Given the description of an element on the screen output the (x, y) to click on. 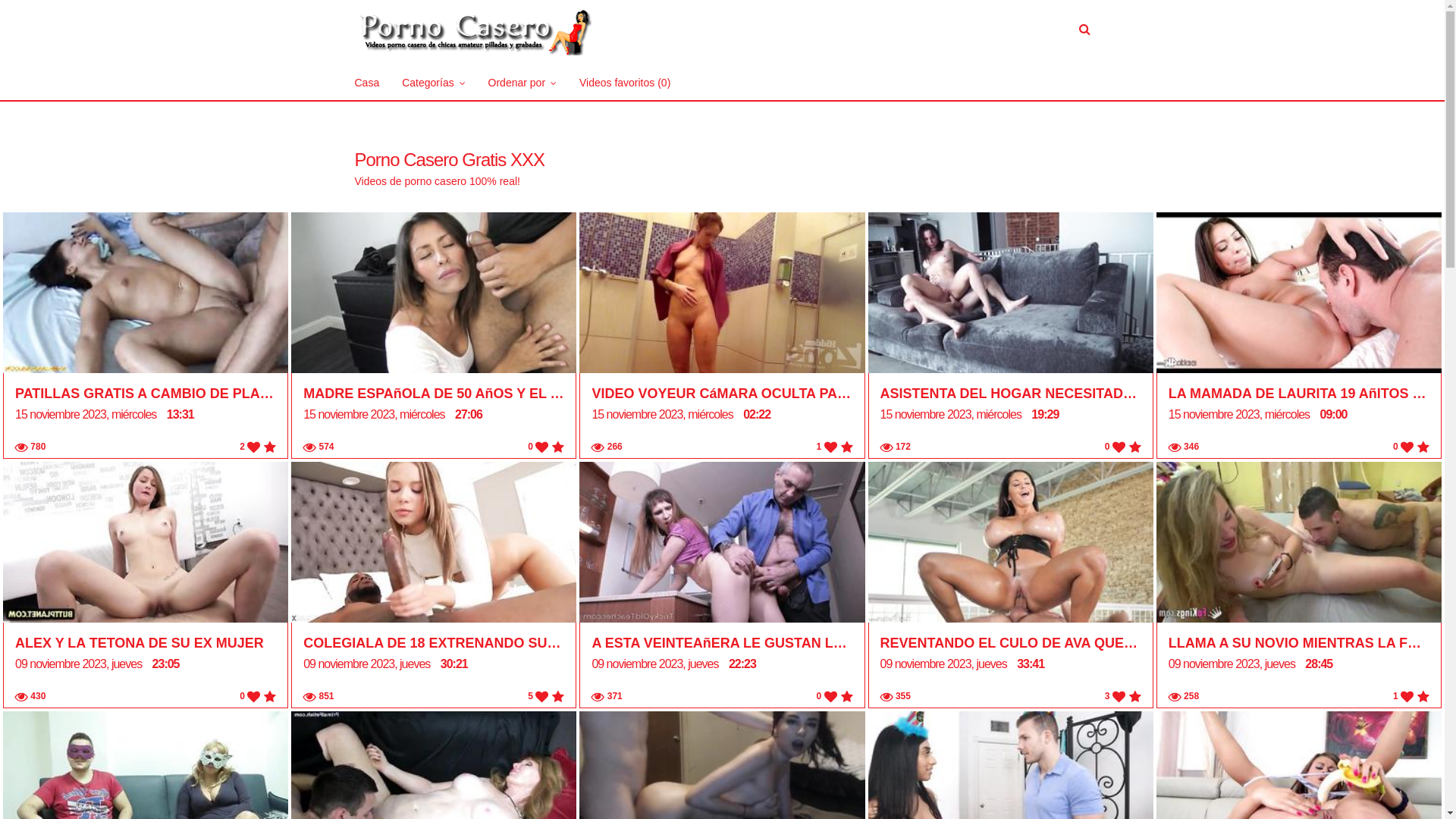
ASISTENTA DEL HOGAR NECESITADA DE PASTA FOLLADAS CASERAS Element type: text (1010, 393)
LLAMA A SU NOVIO MIENTRAS LA FOLLAN Element type: text (1298, 642)
REVENTANDO EL CULO DE AVA QUE PEDAZO DE HEMBRA Element type: text (1010, 642)
ALEX Y LA TETONA DE SU EX MUJER Element type: text (145, 642)
Casa Element type: text (366, 82)
Ordenar por Element type: text (521, 82)
COLEGIALA DE 18 EXTRENANDO SU CULITO Element type: text (433, 642)
Videos favoritos (0) Element type: text (624, 82)
PATILLAS GRATIS A CAMBIO DE PLACER, CASERO AMATEUR Element type: text (145, 393)
